Given the description of an element on the screen output the (x, y) to click on. 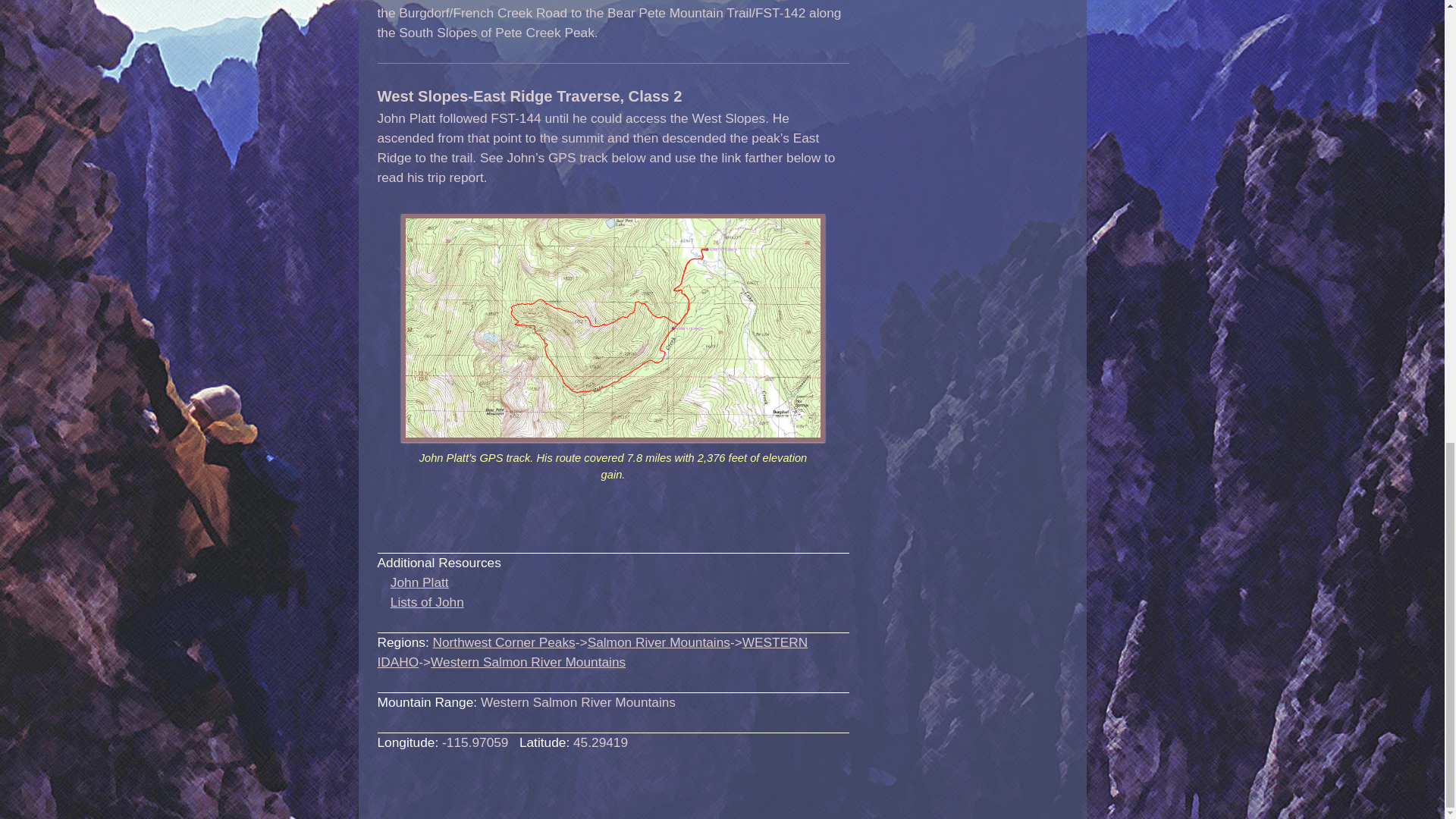
Lists of John (427, 601)
WESTERN IDAHO (592, 651)
Salmon River Mountains (659, 642)
John Platt (419, 581)
Northwest Corner Peaks (503, 642)
Western Salmon River Mountains (528, 661)
